Given the description of an element on the screen output the (x, y) to click on. 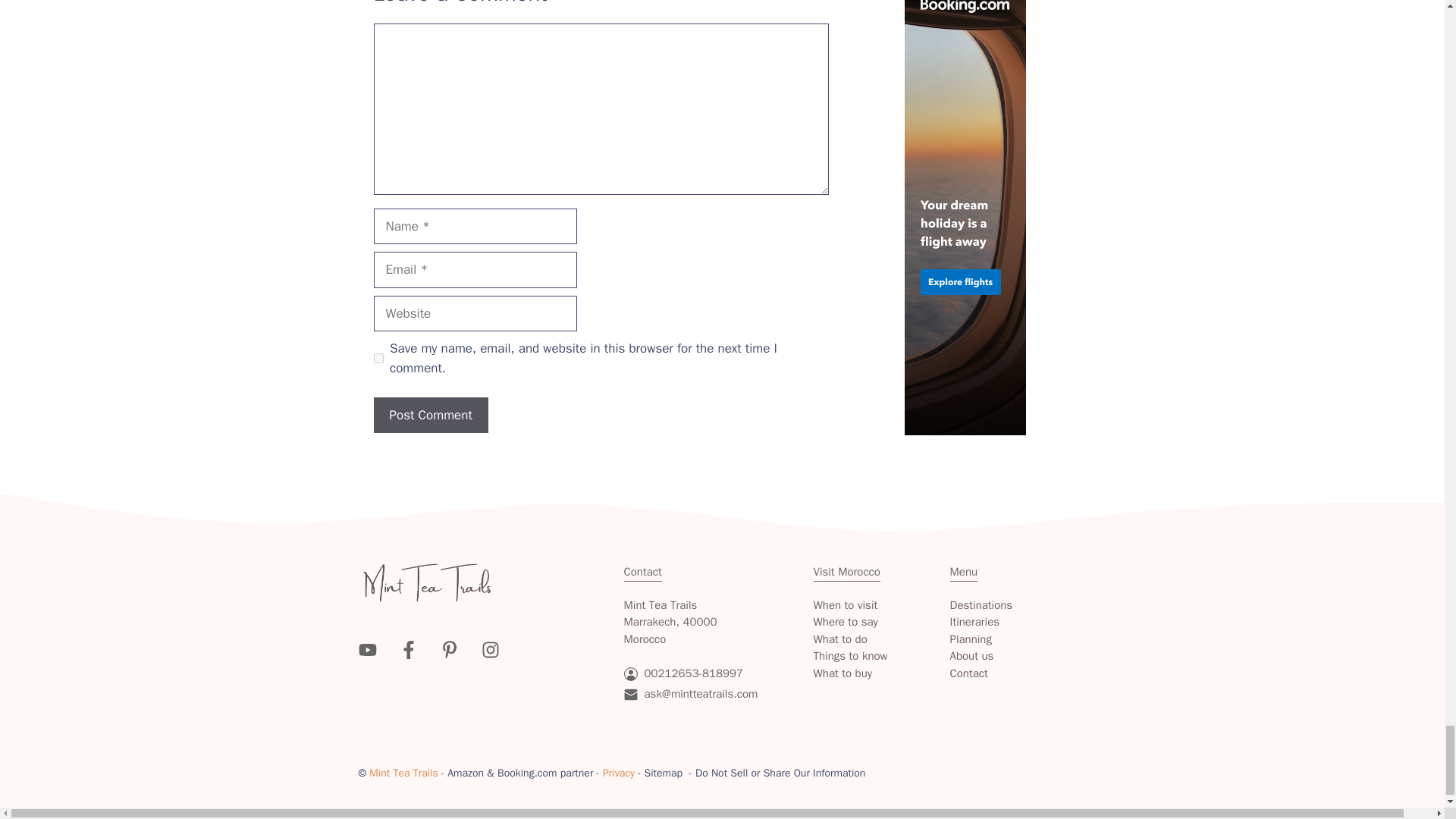
yes (377, 357)
mint tea trails logo (426, 581)
Post Comment (429, 415)
Post Comment (429, 415)
